Given the description of an element on the screen output the (x, y) to click on. 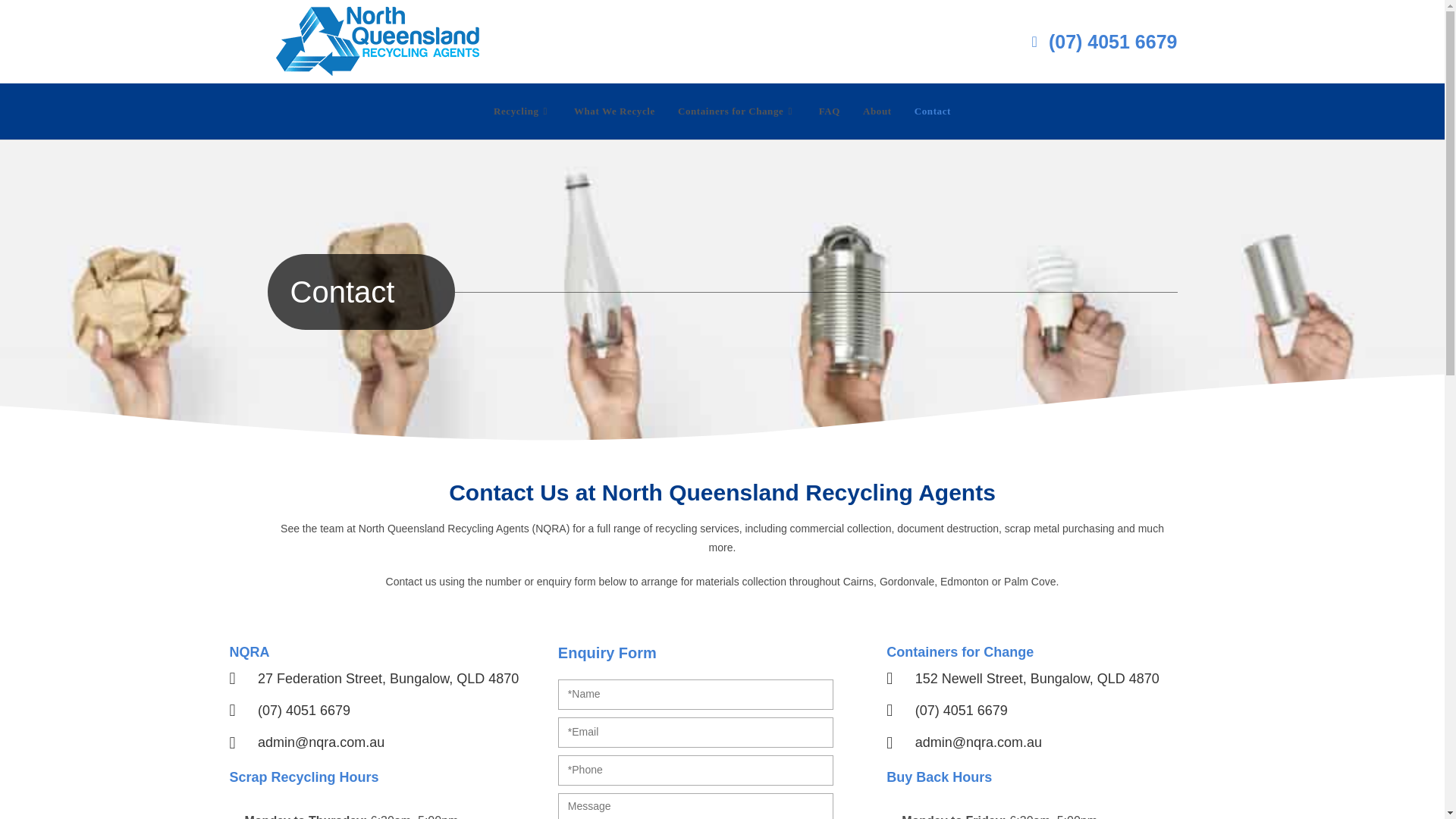
What We Recycle (614, 111)
152 Newell Street, Bungalow, QLD 4870 (1050, 678)
nqra-logo-blue-new (380, 41)
Recycling (521, 111)
27 Federation Street, Bungalow, QLD 4870 (392, 678)
Contact (932, 111)
Containers for Change (737, 111)
About (876, 111)
